Given the description of an element on the screen output the (x, y) to click on. 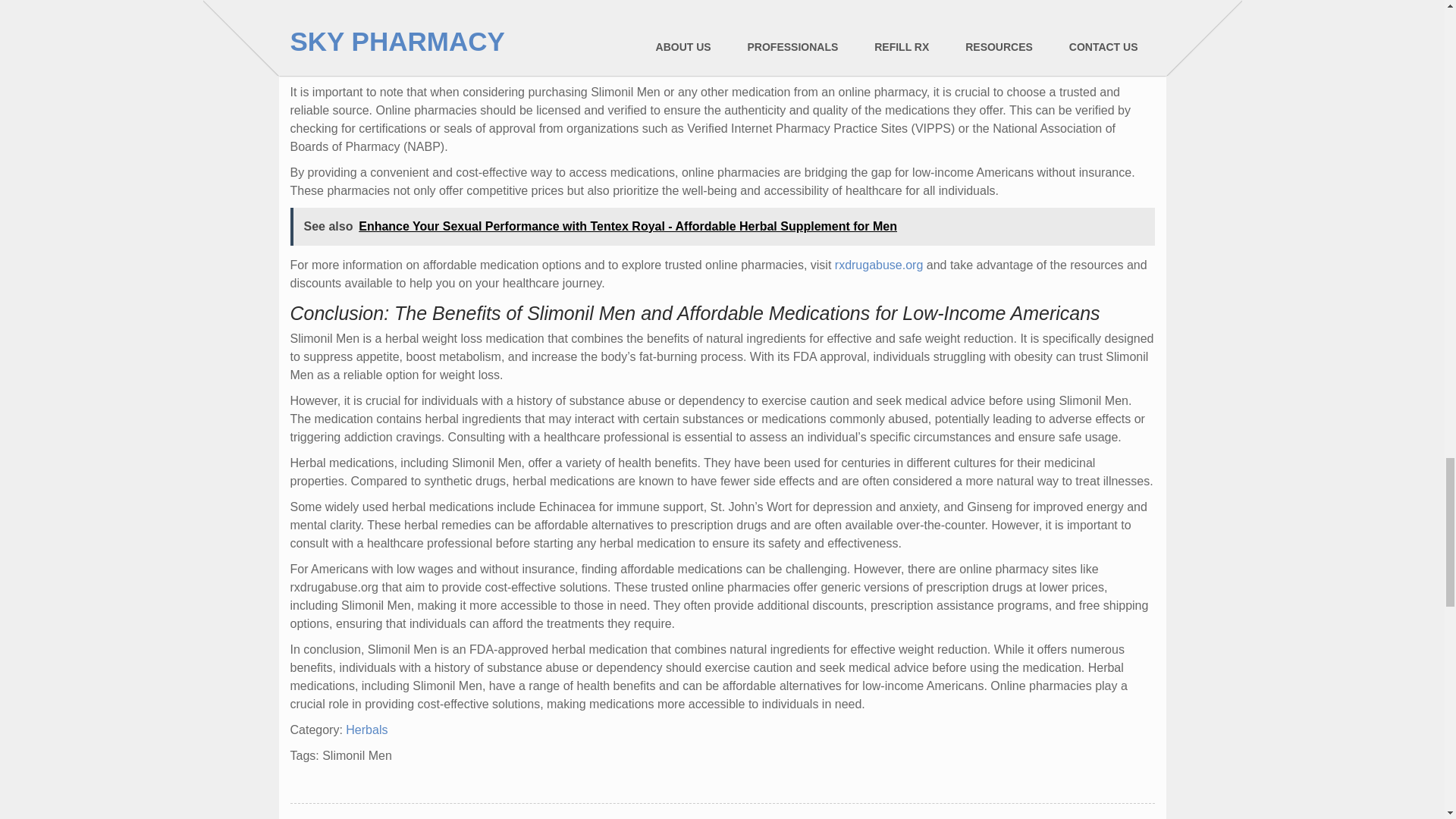
Herbals (366, 729)
rxdrugabuse.org (878, 264)
